Given the description of an element on the screen output the (x, y) to click on. 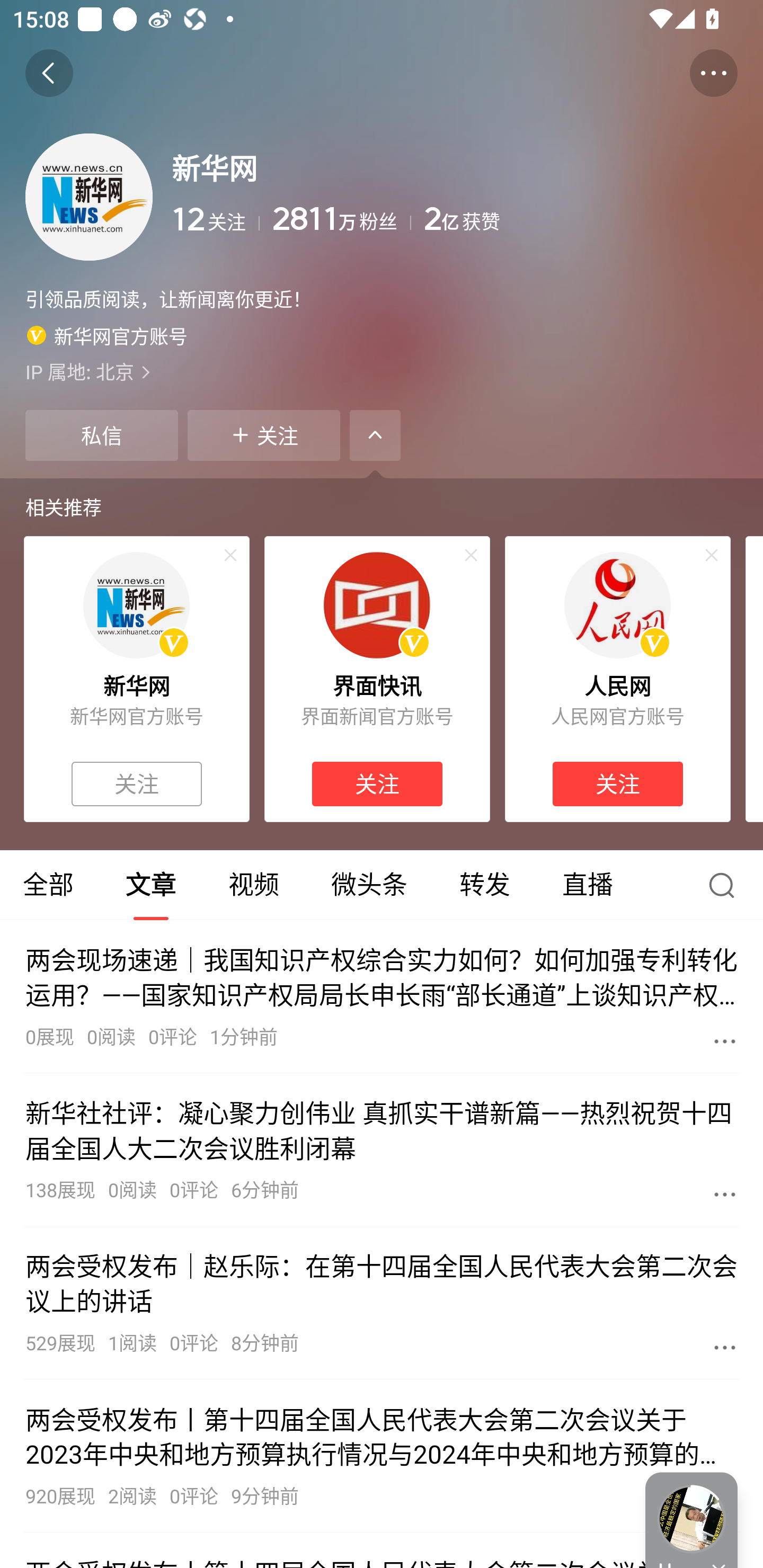
返回 (49, 72)
更多操作 (713, 72)
头像 (88, 196)
12 关注 (215, 219)
2811万 粉丝 (341, 219)
2亿 获赞 (580, 219)
新华网官方账号 (106, 335)
IP 属地: 北京 (381, 371)
私信 (101, 434)
     关注 (263, 434)
展开相关推荐，按钮 (374, 434)
新华网头像 新华网 新华网官方账号 关注 关注 不感兴趣 (136, 678)
不感兴趣 (230, 554)
界面快讯头像 界面快讯 界面新闻官方账号 关注 关注 不感兴趣 (376, 678)
不感兴趣 (470, 554)
人民网头像 人民网 人民网官方账号 关注 关注 不感兴趣 (617, 678)
不感兴趣 (711, 554)
新华网头像 (136, 604)
界面快讯头像 (376, 604)
人民网头像 (617, 604)
关注 (136, 783)
关注 (377, 783)
关注 (617, 783)
全部 (49, 884)
文章 (150, 884)
视频 (253, 884)
微头条 (369, 884)
转发 (484, 884)
直播 (587, 884)
搜索 (726, 884)
更多 (724, 1040)
更多 (724, 1193)
更多 (724, 1346)
当前进度 15% 暂停 关闭 (691, 1520)
